Given the description of an element on the screen output the (x, y) to click on. 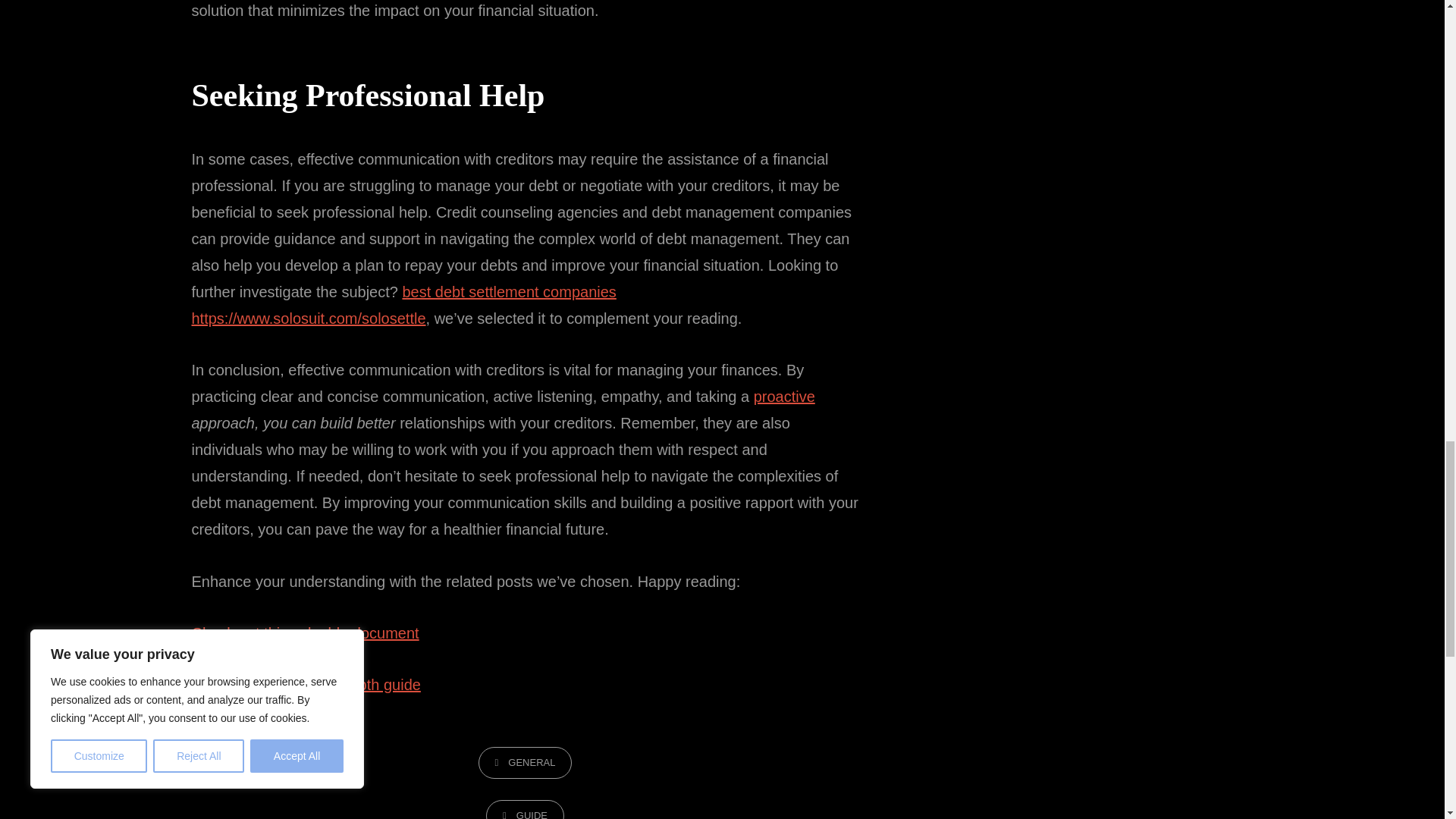
Check out this valuable document (304, 632)
Click to access this in-depth guide (305, 684)
proactive (784, 396)
GUIDE (525, 809)
GENERAL (525, 762)
